Given the description of an element on the screen output the (x, y) to click on. 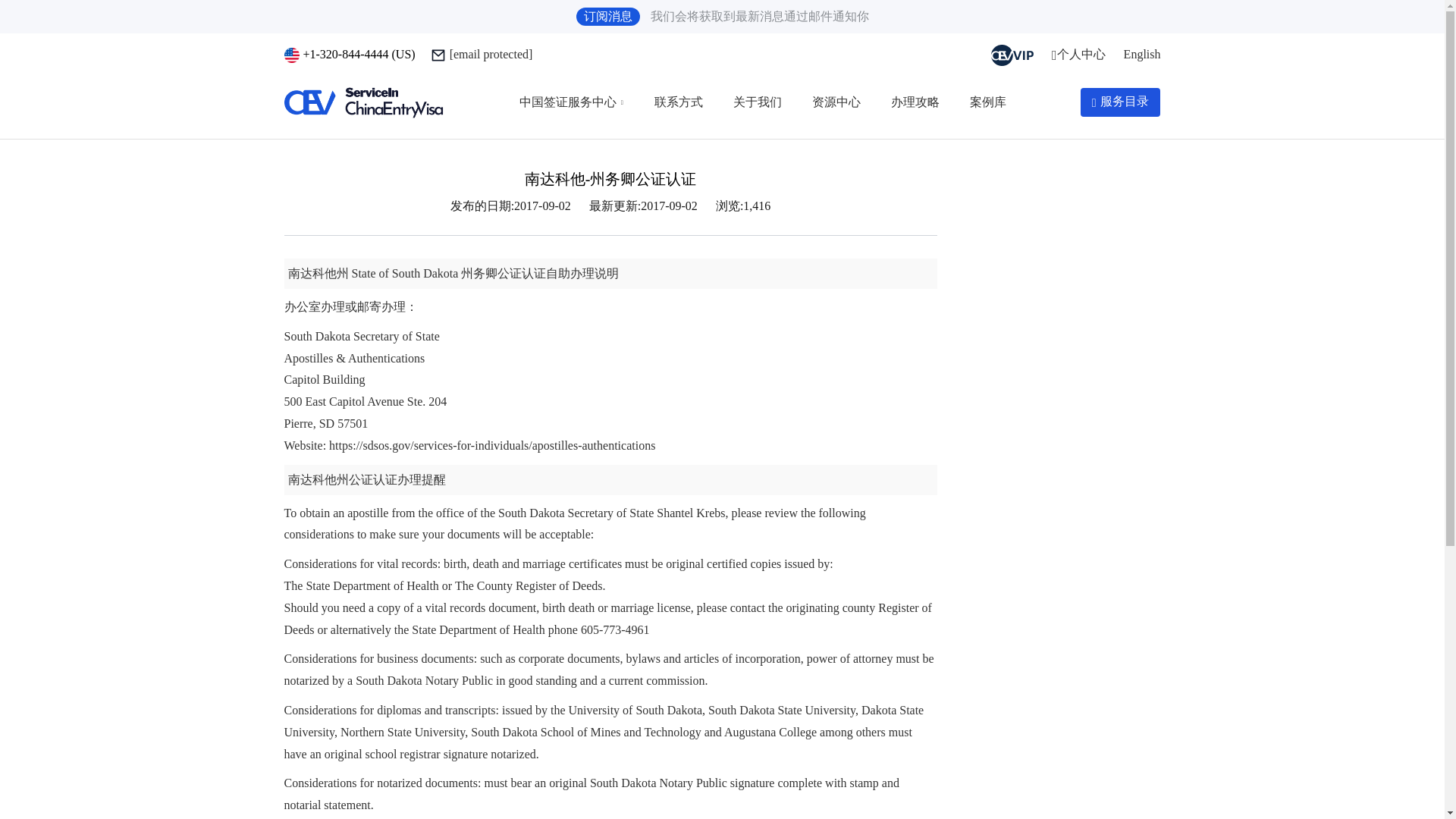
English (1142, 53)
